Given the description of an element on the screen output the (x, y) to click on. 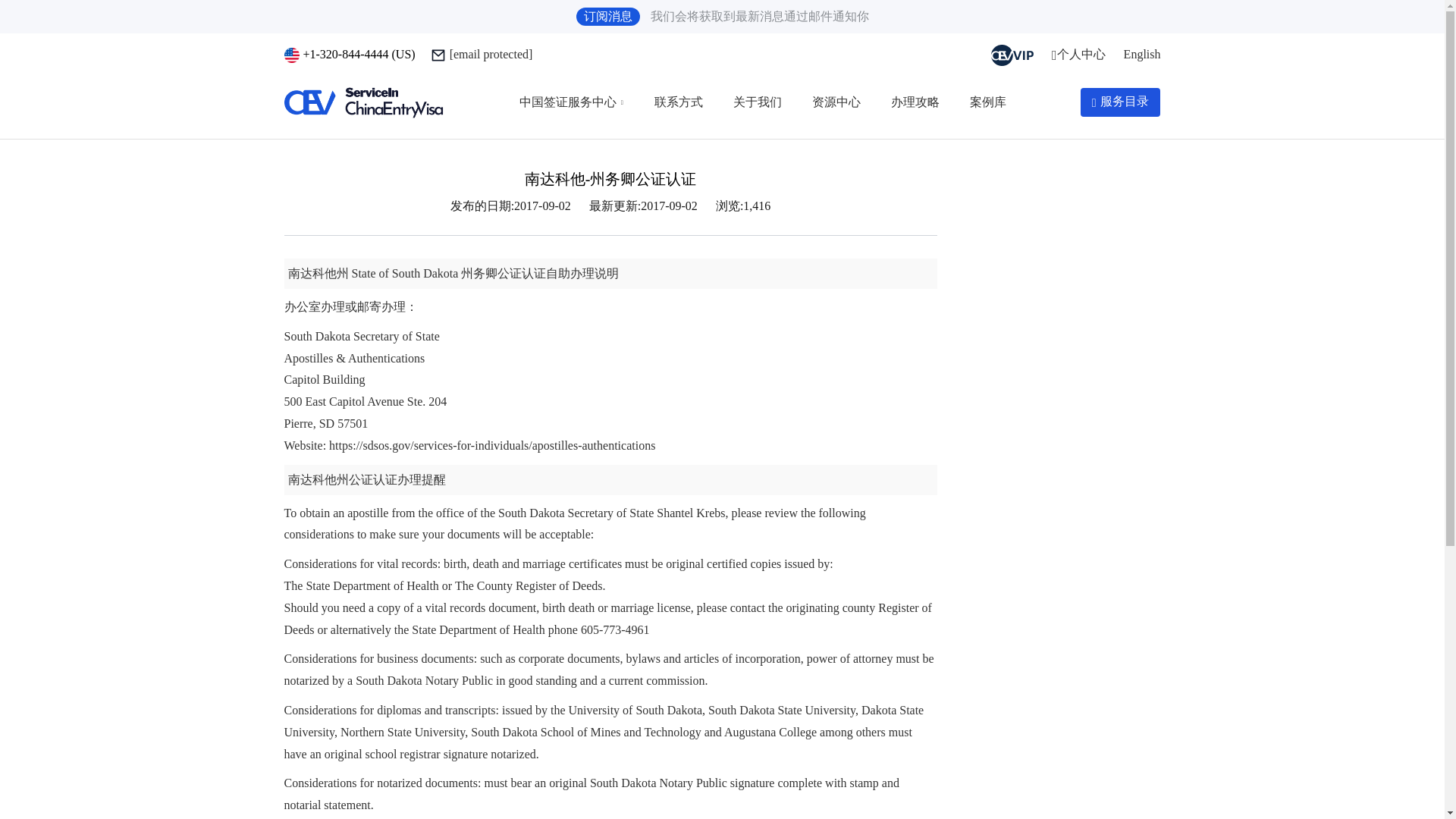
English (1142, 53)
